Given the description of an element on the screen output the (x, y) to click on. 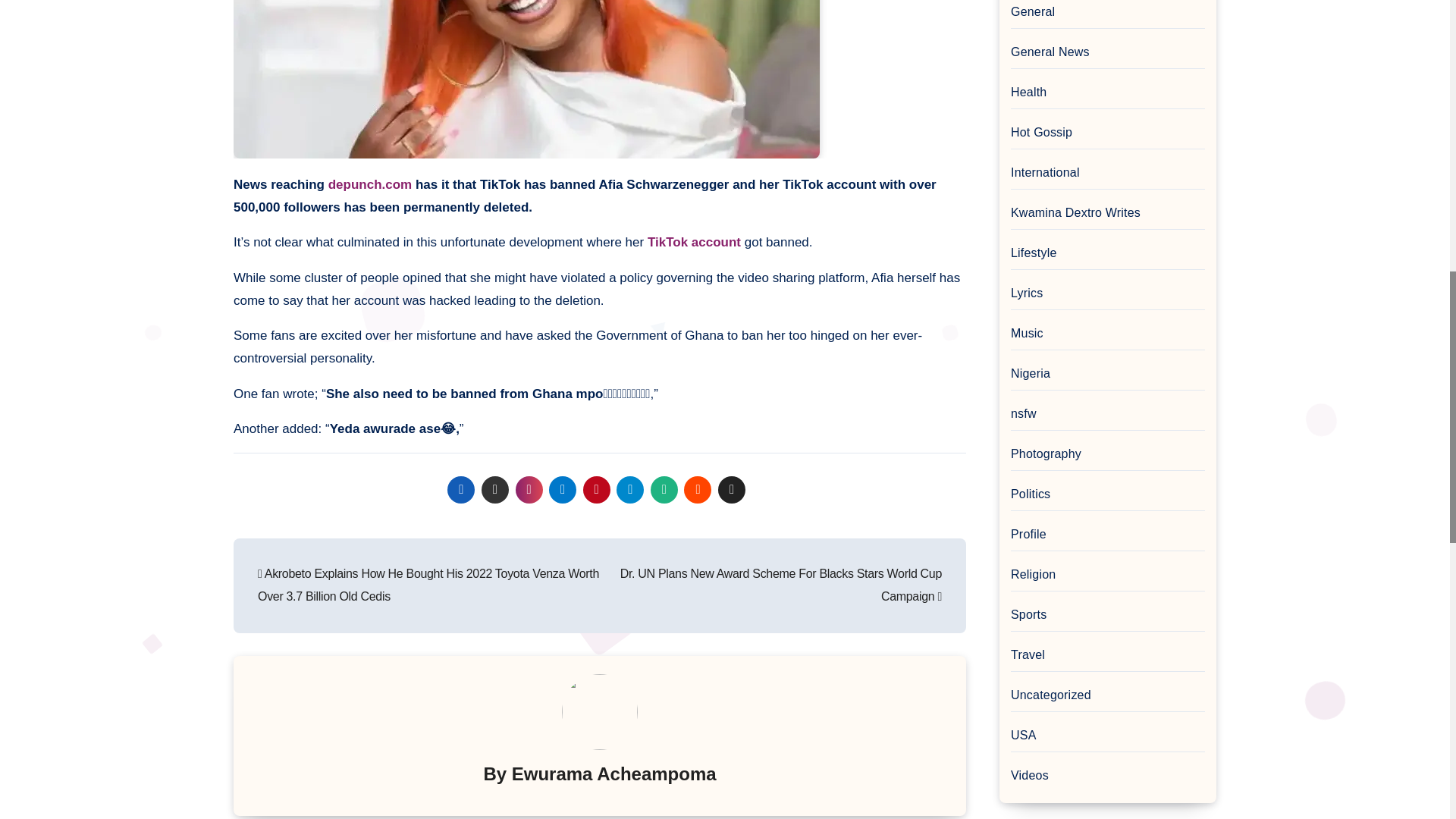
TikTok account (694, 242)
depunch.com (370, 184)
Ewurama Acheampoma (614, 773)
